Given the description of an element on the screen output the (x, y) to click on. 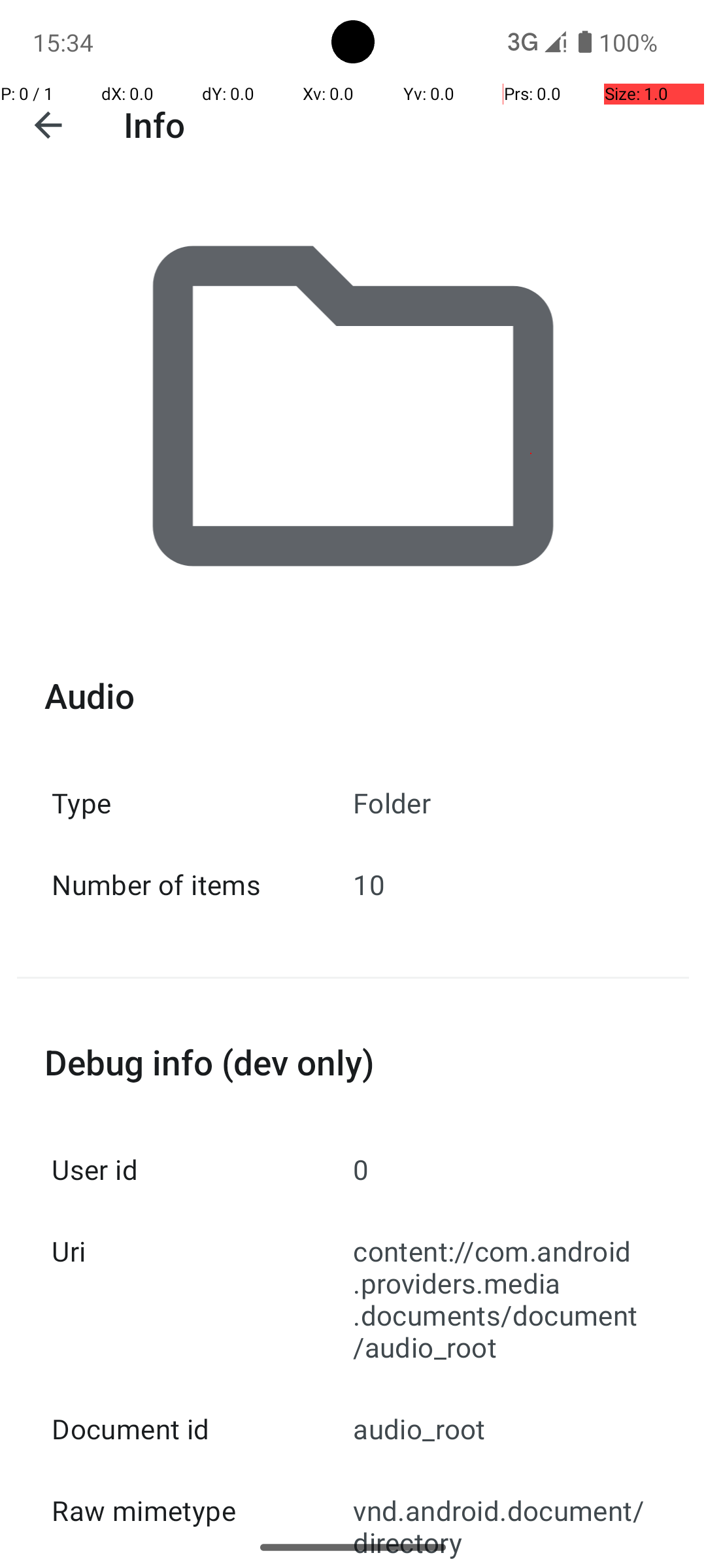
Info Element type: android.widget.TextView (153, 124)
Folder Element type: android.widget.TextView (503, 802)
Number of items Element type: android.widget.TextView (202, 884)
Debug info (dev only) Element type: android.widget.TextView (352, 1061)
User id Element type: android.widget.TextView (202, 1168)
Uri Element type: android.widget.TextView (202, 1250)
content://com.android.providers.media.documents/document/audio_root Element type: android.widget.TextView (503, 1298)
Document id Element type: android.widget.TextView (202, 1428)
audio_root Element type: android.widget.TextView (503, 1428)
Raw mimetype Element type: android.widget.TextView (202, 1510)
vnd.android.document/directory Element type: android.widget.TextView (503, 1518)
